Given the description of an element on the screen output the (x, y) to click on. 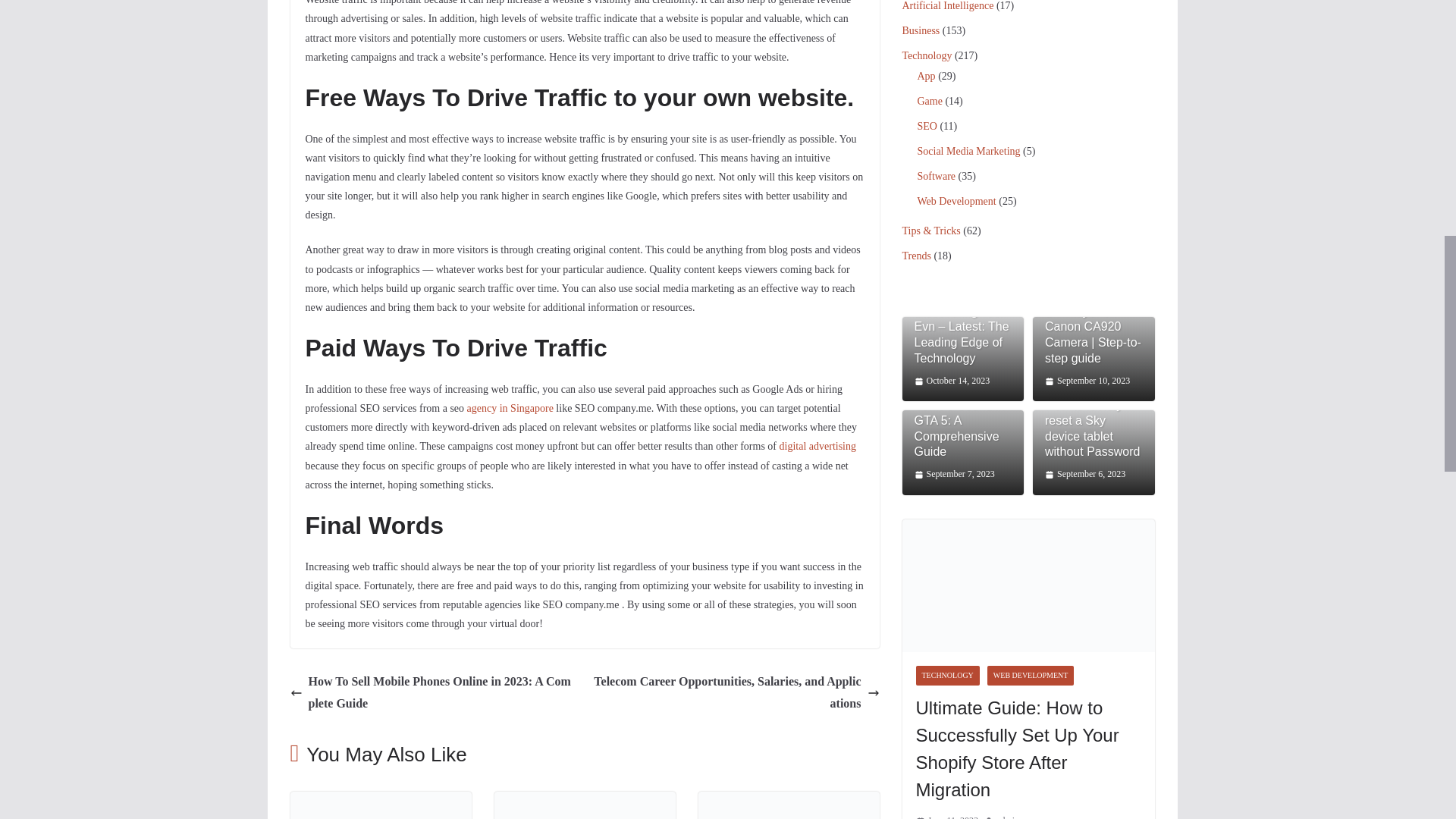
agency in Singapore (510, 408)
digital advertising (817, 446)
Artificial Intelligence (948, 5)
How To Sell Mobile Phones Online in 2023: A Complete Guide (432, 692)
How to Change Vehicle Sound in GTA 5: A Comprehensive Guide (379, 801)
Telecom Career Opportunities, Salaries, and Applications (735, 692)
The Influence of Technology on the Umrah Experience (788, 801)
